Given the description of an element on the screen output the (x, y) to click on. 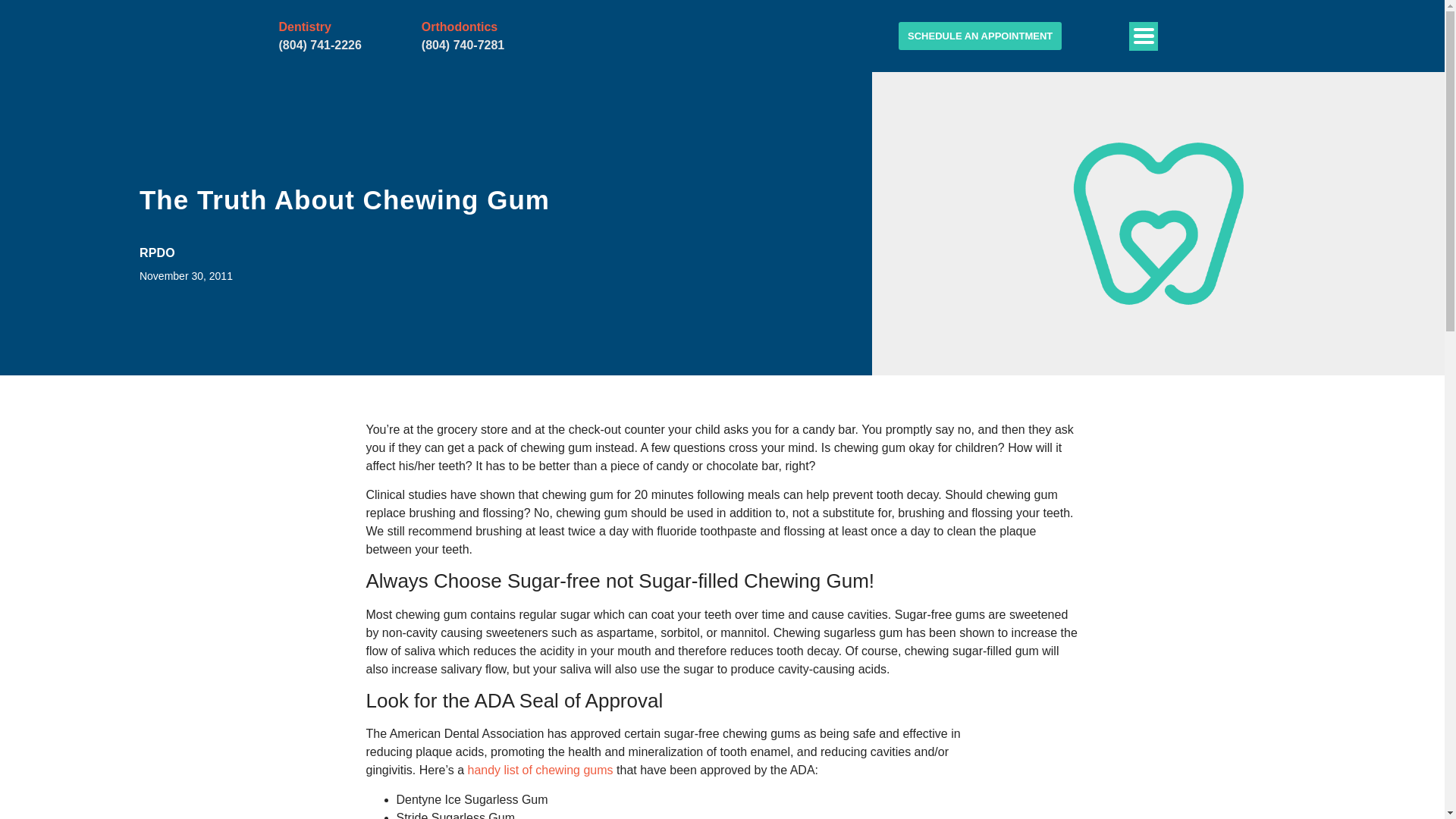
SCHEDULE AN APPOINTMENT (979, 35)
handy list of chewing gums (539, 769)
ADA Seal of Approval (1044, 723)
